Given the description of an element on the screen output the (x, y) to click on. 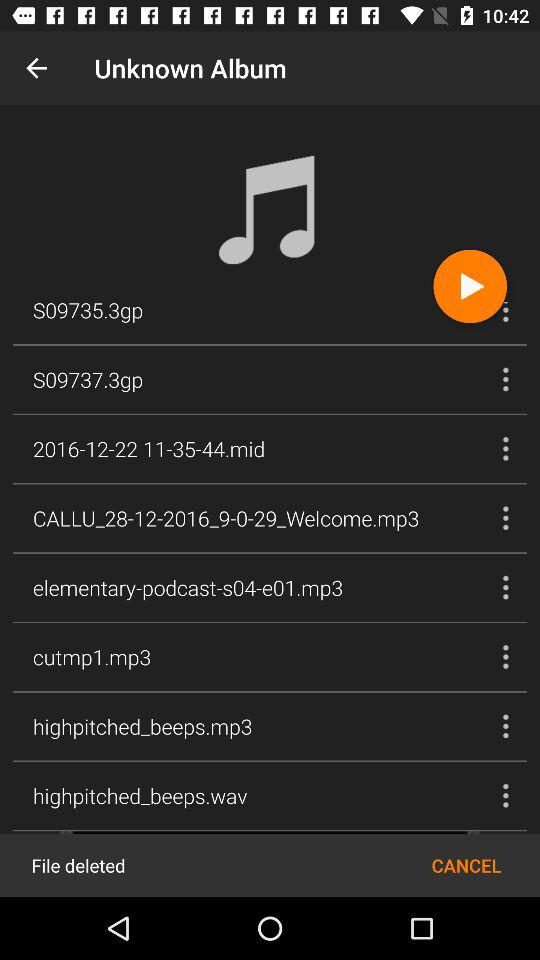
scroll to s09735.3gp item (88, 312)
